Given the description of an element on the screen output the (x, y) to click on. 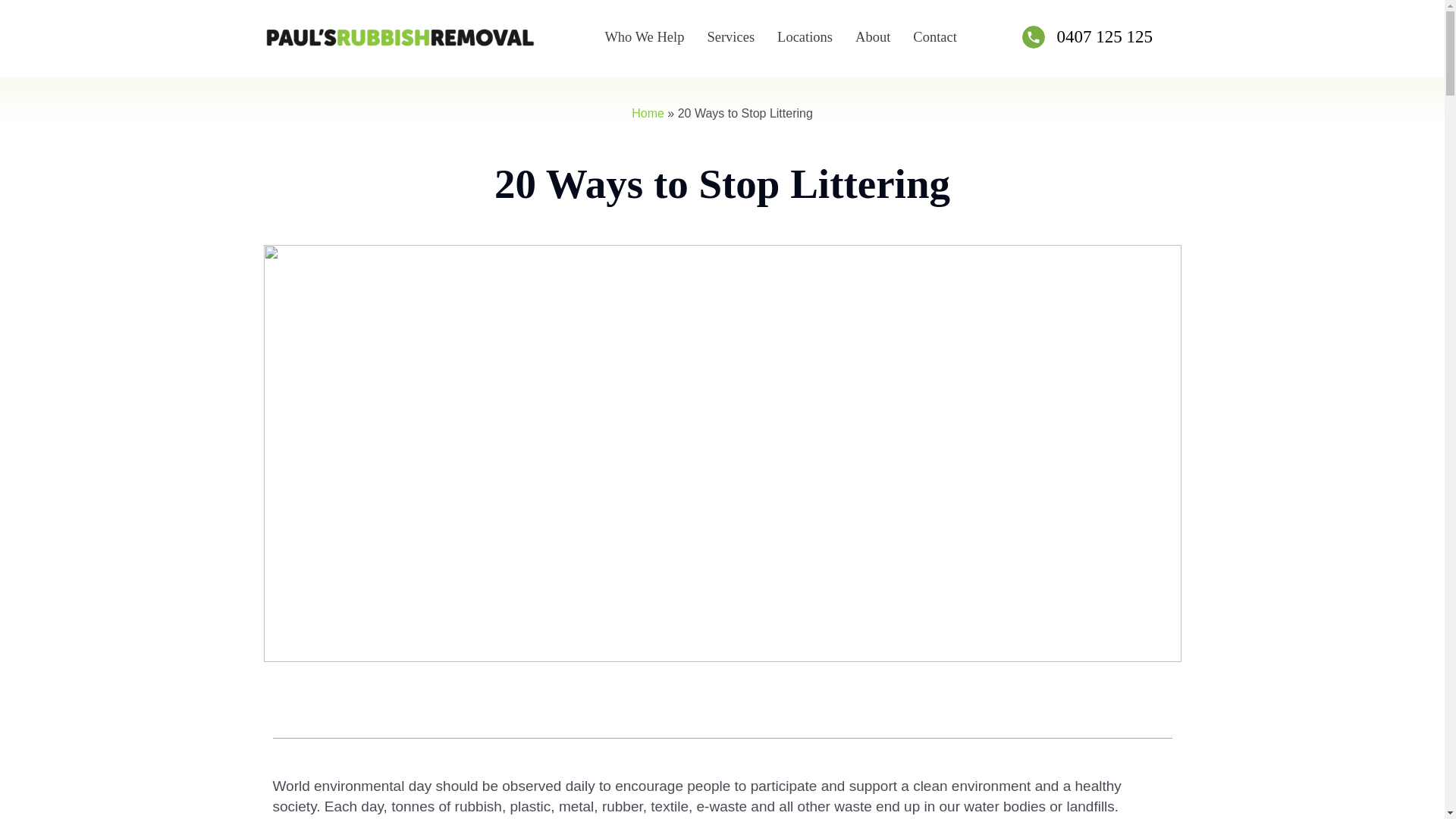
Services (729, 36)
Home (647, 113)
Locations (805, 36)
About (872, 36)
Who We Help (643, 36)
Contact (934, 36)
0407 125 125 (1105, 36)
